Given the description of an element on the screen output the (x, y) to click on. 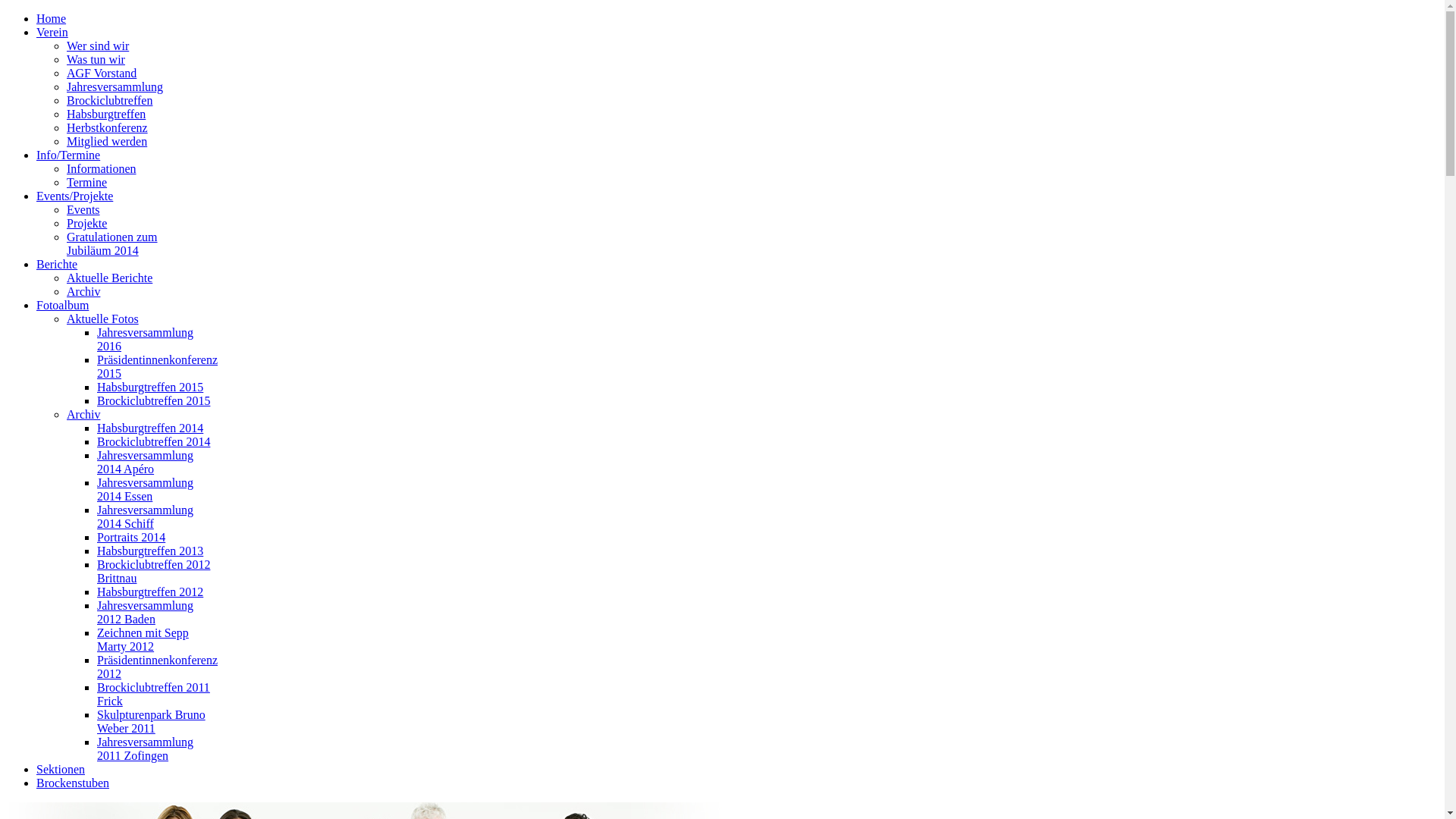
Projekte Element type: text (86, 222)
Archiv Element type: text (83, 291)
Zeichnen mit Sepp Marty 2012 Element type: text (142, 639)
Mitglied werden Element type: text (106, 140)
AGF Vorstand Element type: text (101, 72)
Jahresversammlung 2016 Element type: text (145, 339)
Brockiclubtreffen 2011 Frick Element type: text (153, 693)
Jahresversammlung 2014 Essen Element type: text (145, 489)
Jahresversammlung 2014 Schiff Element type: text (145, 516)
Habsburgtreffen 2013 Element type: text (150, 550)
Herbstkonferenz Element type: text (106, 127)
Aktuelle Berichte Element type: text (109, 277)
Aktuelle Fotos Element type: text (102, 318)
Habsburgtreffen Element type: text (105, 113)
Habsburgtreffen 2015 Element type: text (150, 386)
Termine Element type: text (86, 181)
Archiv Element type: text (83, 413)
Habsburgtreffen 2014 Element type: text (150, 427)
Jahresversammlung 2012 Baden Element type: text (145, 612)
Verein Element type: text (52, 31)
Skulpturenpark Bruno Weber 2011 Element type: text (151, 721)
Sektionen Element type: text (60, 768)
Home Element type: text (50, 18)
Fotoalbum Element type: text (62, 304)
Jahresversammlung 2011 Zofingen Element type: text (145, 748)
Brockiclubtreffen 2012 Brittnau Element type: text (153, 571)
Was tun wir Element type: text (95, 59)
Events Element type: text (83, 209)
Berichte Element type: text (56, 263)
Events/Projekte Element type: text (74, 195)
Brockiclubtreffen 2014 Element type: text (153, 441)
Brockiclubtreffen Element type: text (109, 100)
Info/Termine Element type: text (68, 154)
Brockenstuben Element type: text (72, 782)
Habsburgtreffen 2012 Element type: text (150, 591)
Portraits 2014 Element type: text (131, 536)
Informationen Element type: text (101, 168)
Brockiclubtreffen 2015 Element type: text (153, 400)
Wer sind wir Element type: text (97, 45)
Jahresversammlung Element type: text (114, 86)
